Given the description of an element on the screen output the (x, y) to click on. 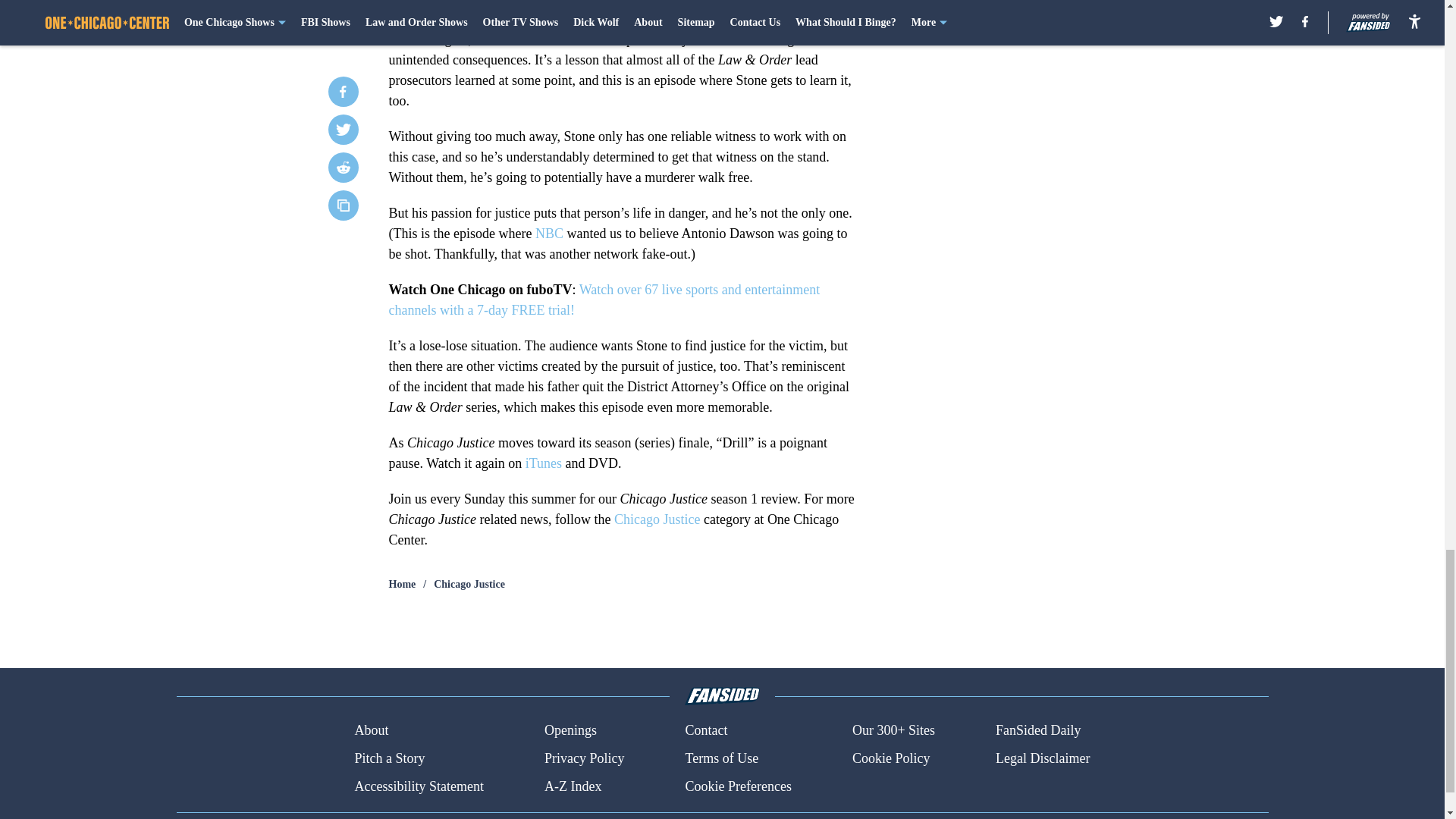
NBC (549, 233)
iTunes (543, 462)
